Given the description of an element on the screen output the (x, y) to click on. 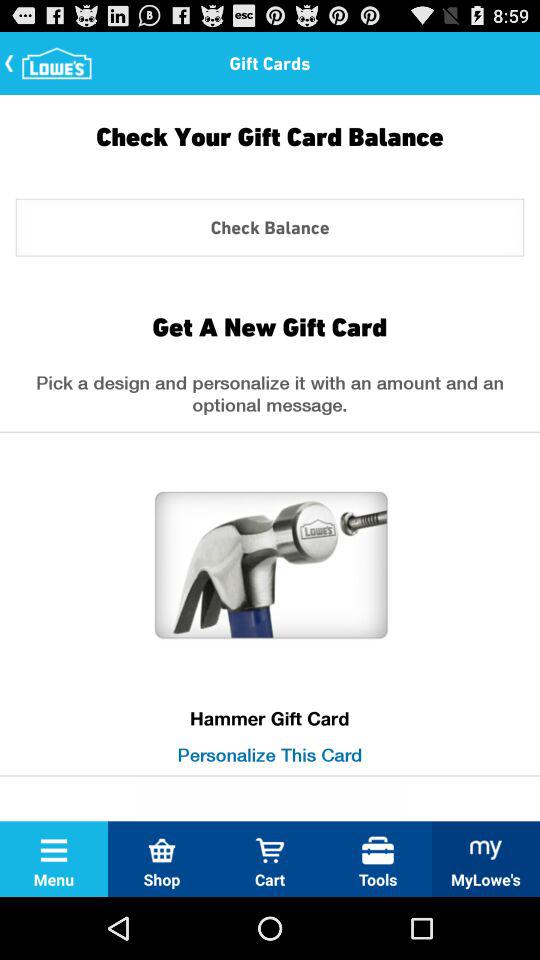
flip to the personalize this card icon (269, 754)
